Given the description of an element on the screen output the (x, y) to click on. 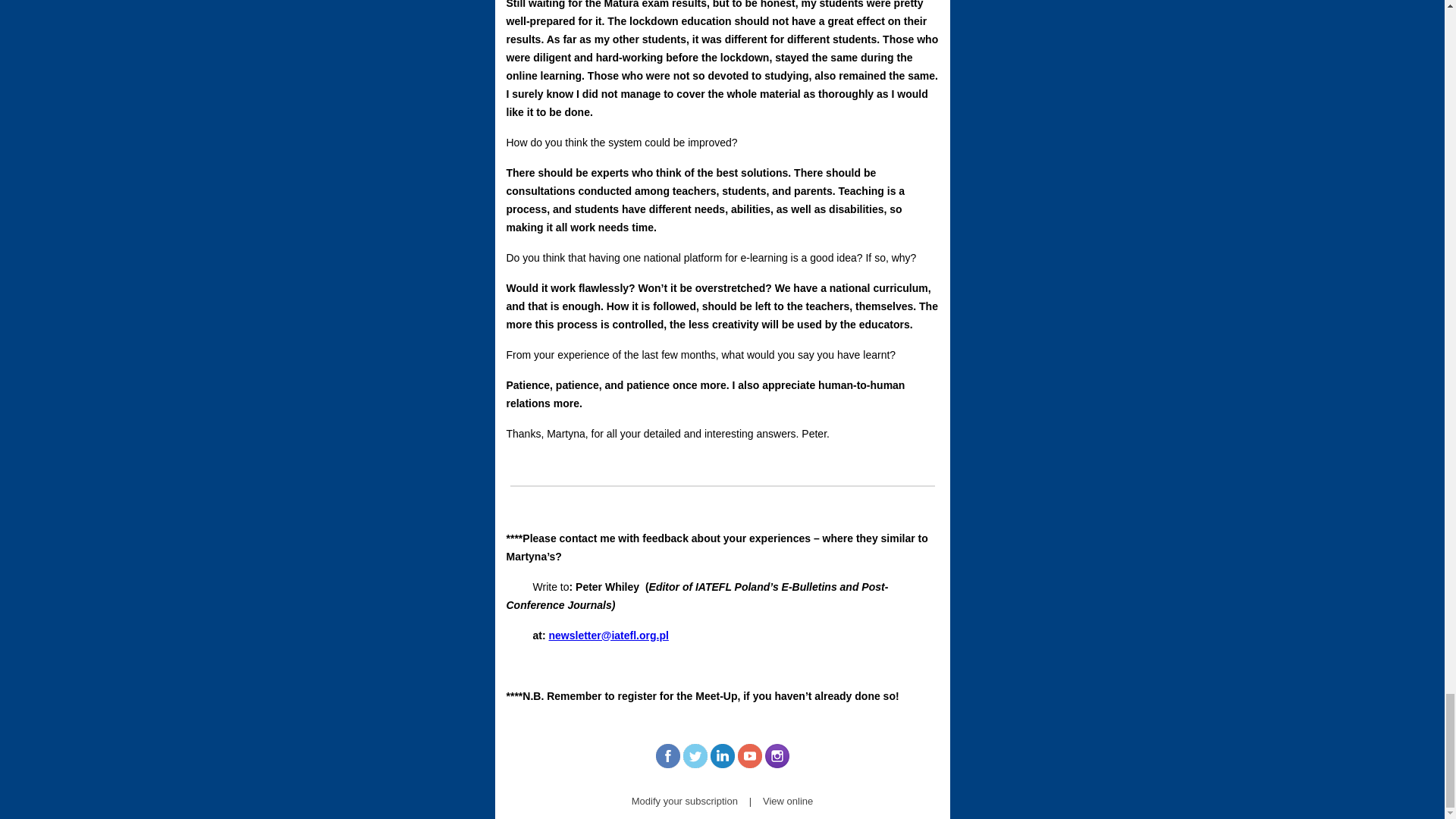
View online (787, 800)
Modify your subscription (684, 800)
